Given the description of an element on the screen output the (x, y) to click on. 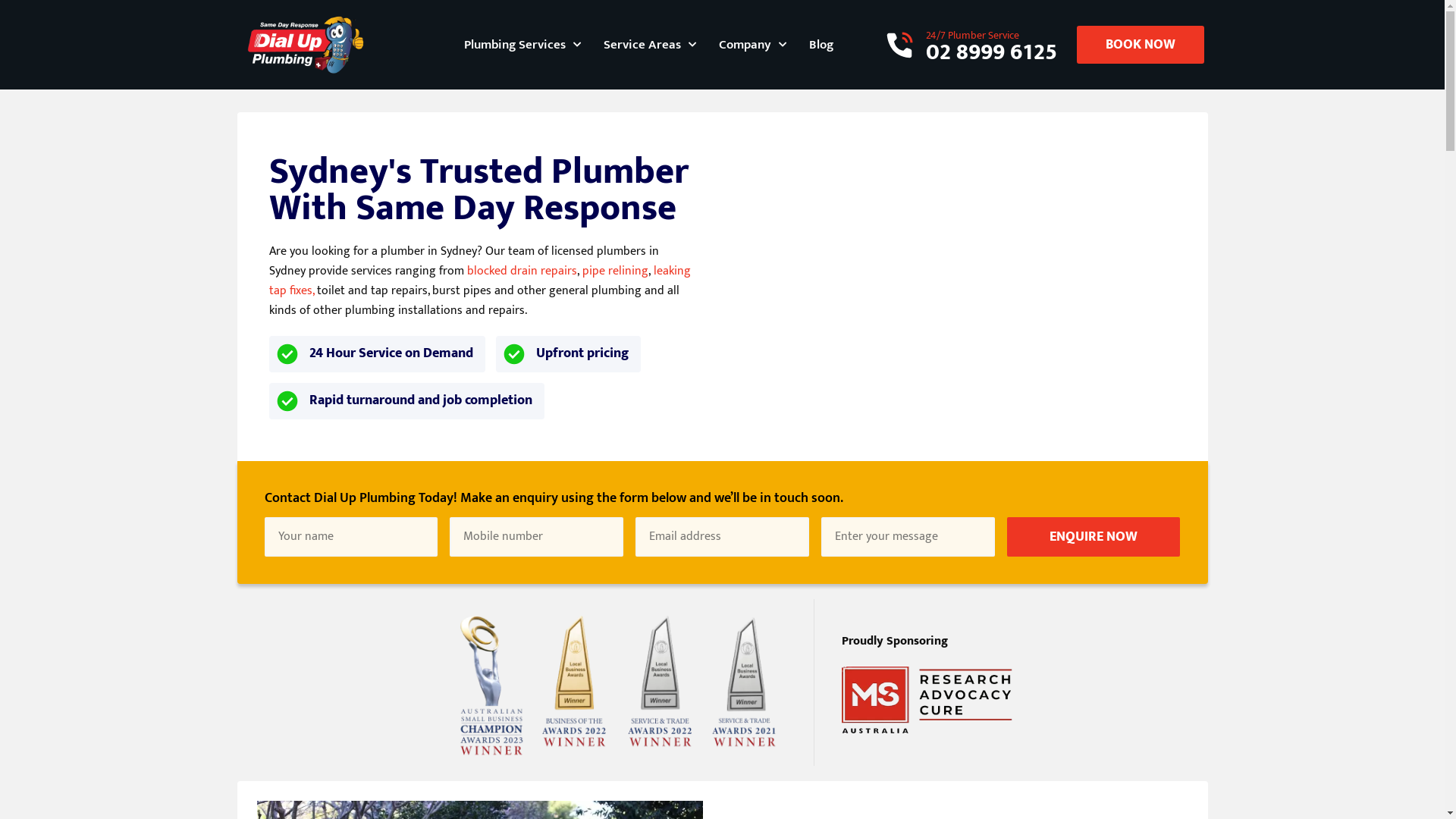
BOOK NOW Element type: text (1140, 44)
Blog Element type: text (820, 44)
Plumbing Services Element type: text (522, 44)
Service Areas Element type: text (649, 44)
Contact us Element type: text (897, 17)
pipe relining Element type: text (615, 270)
unblocking drains Element type: text (551, 17)
24/7 Plumber Service
02 8999 6125 Element type: text (970, 41)
blocked drain repairs Element type: text (522, 270)
Company Element type: text (752, 44)
leaking tap fixes, Element type: text (479, 280)
ENQUIRE NOW Element type: text (1093, 536)
